Given the description of an element on the screen output the (x, y) to click on. 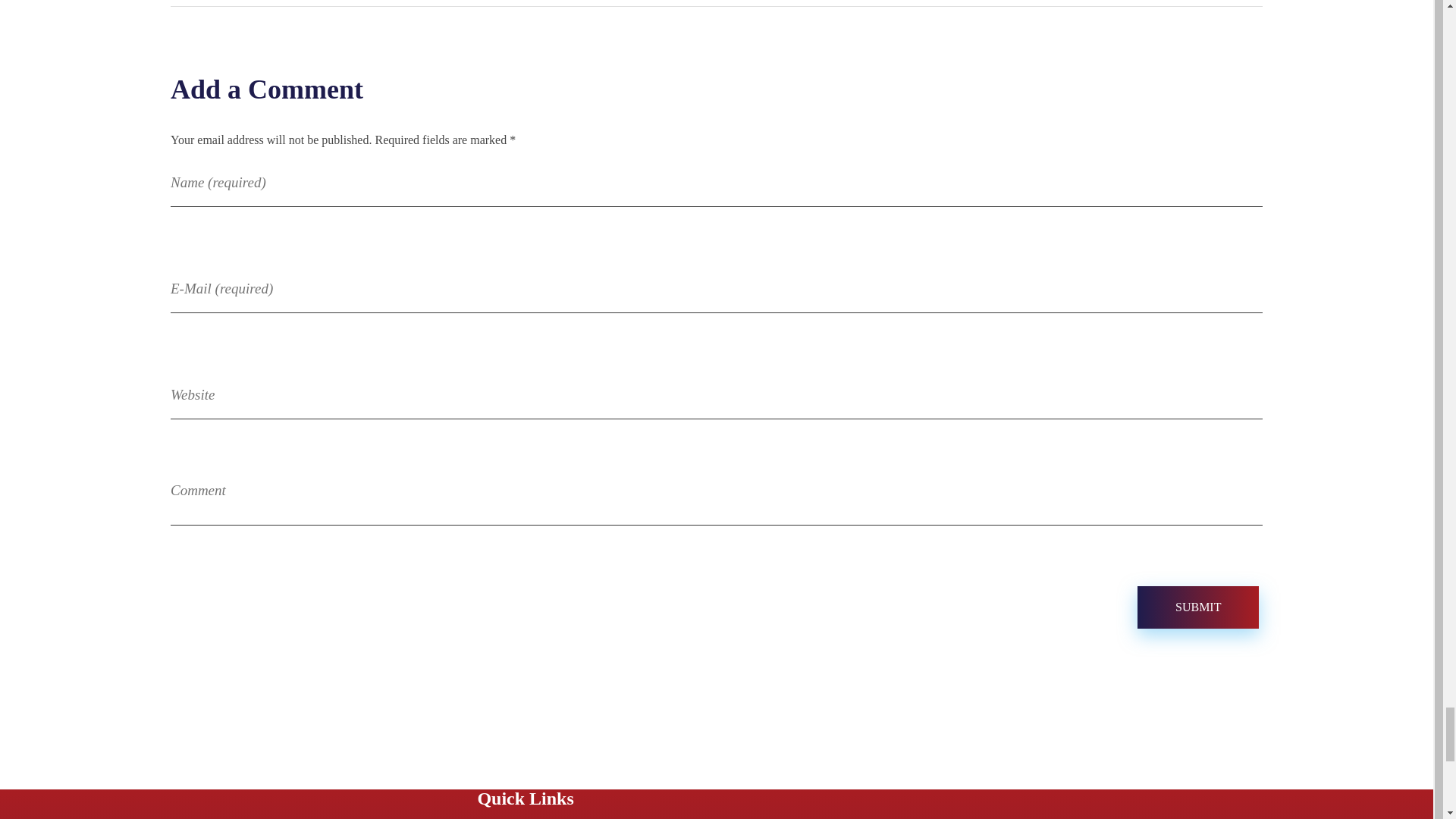
Submit (1198, 606)
